Given the description of an element on the screen output the (x, y) to click on. 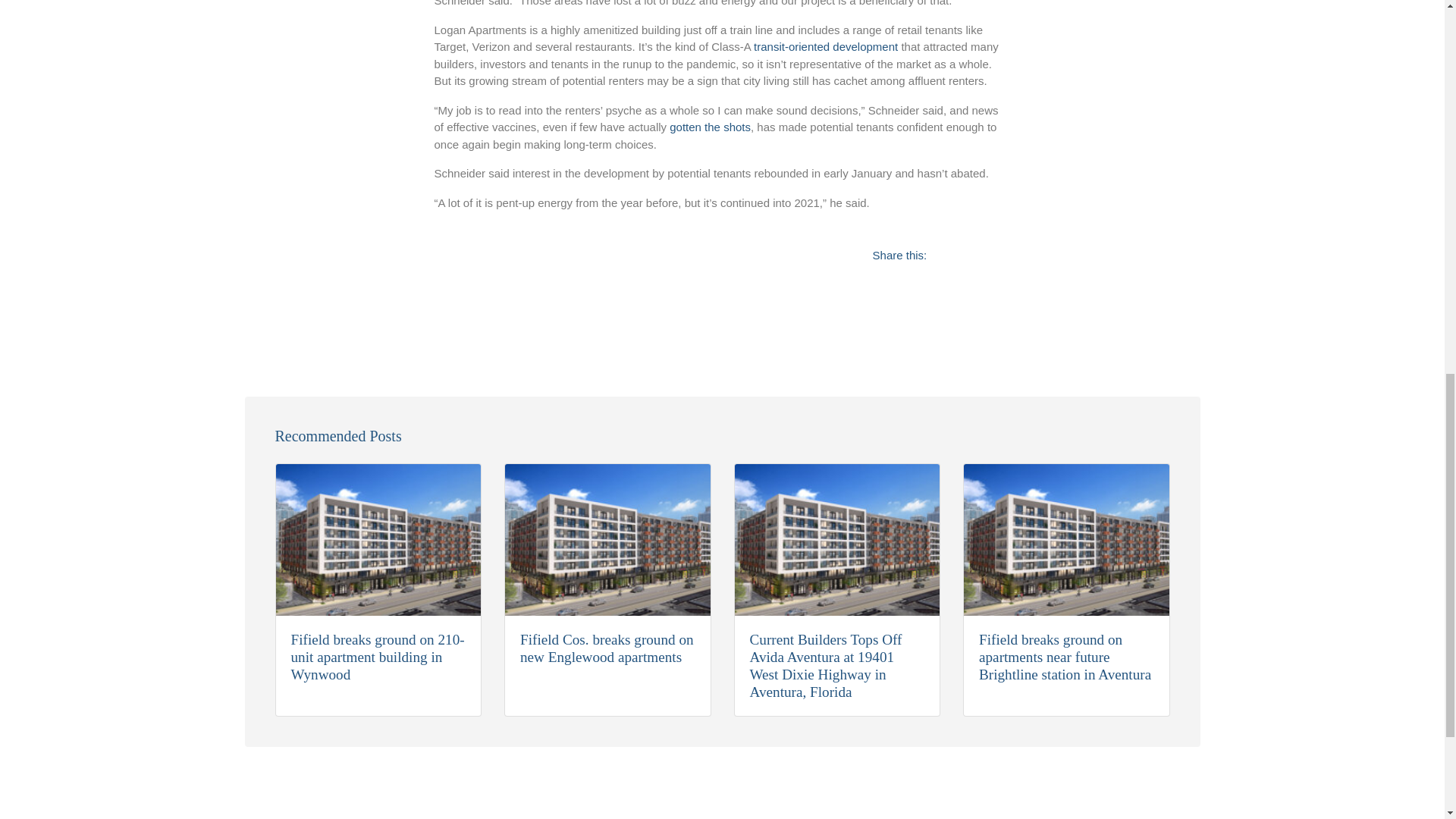
transit-oriented development (826, 46)
gotten the shots (710, 126)
